Given the description of an element on the screen output the (x, y) to click on. 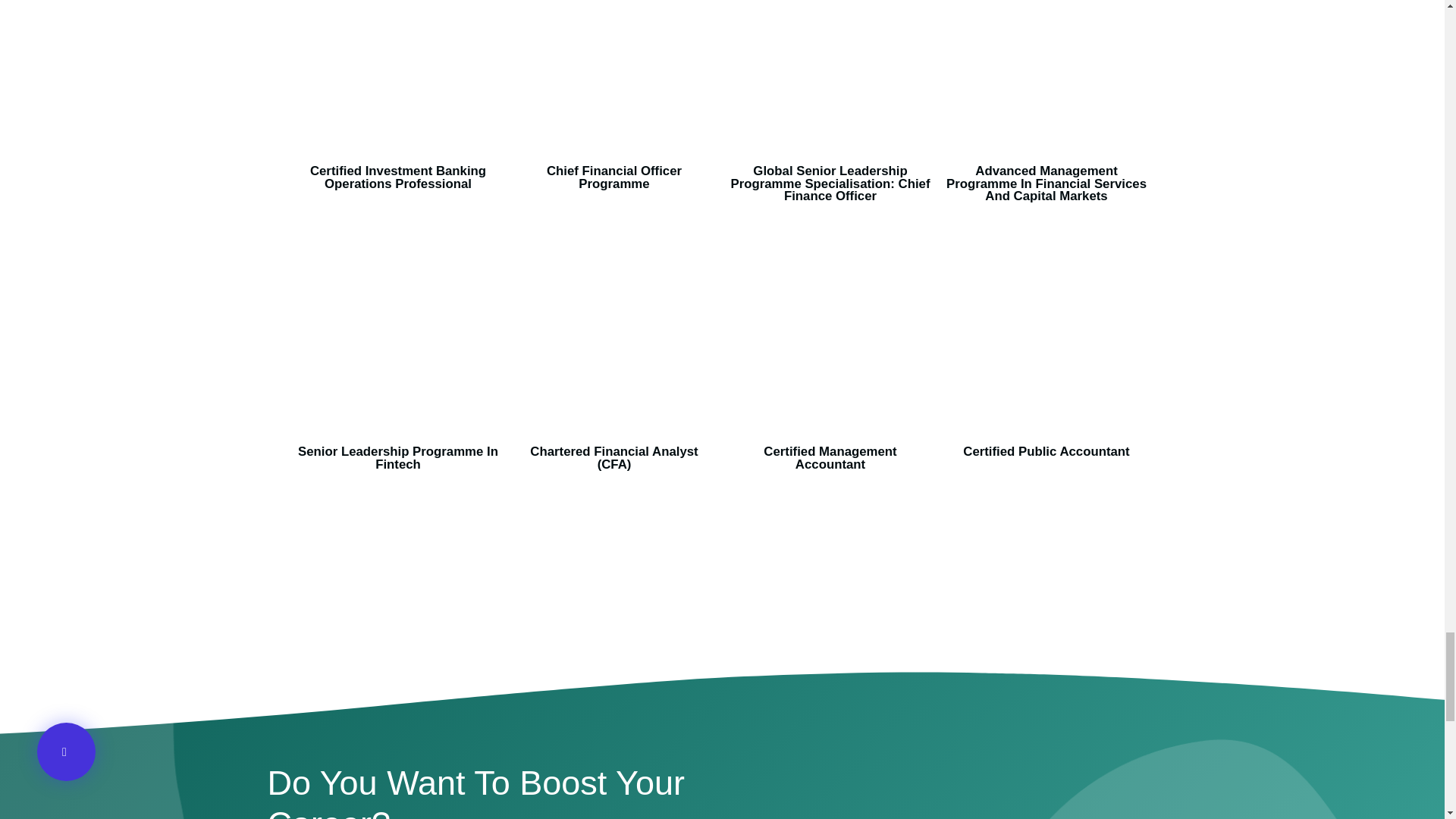
Senior Leadership Programme In Fintech (397, 457)
Certified Investment Banking Operations Professional (398, 176)
Chief Financial Officer Programme (614, 176)
Certified Public Accountant (1045, 451)
Certified Management Accountant (829, 457)
